Given the description of an element on the screen output the (x, y) to click on. 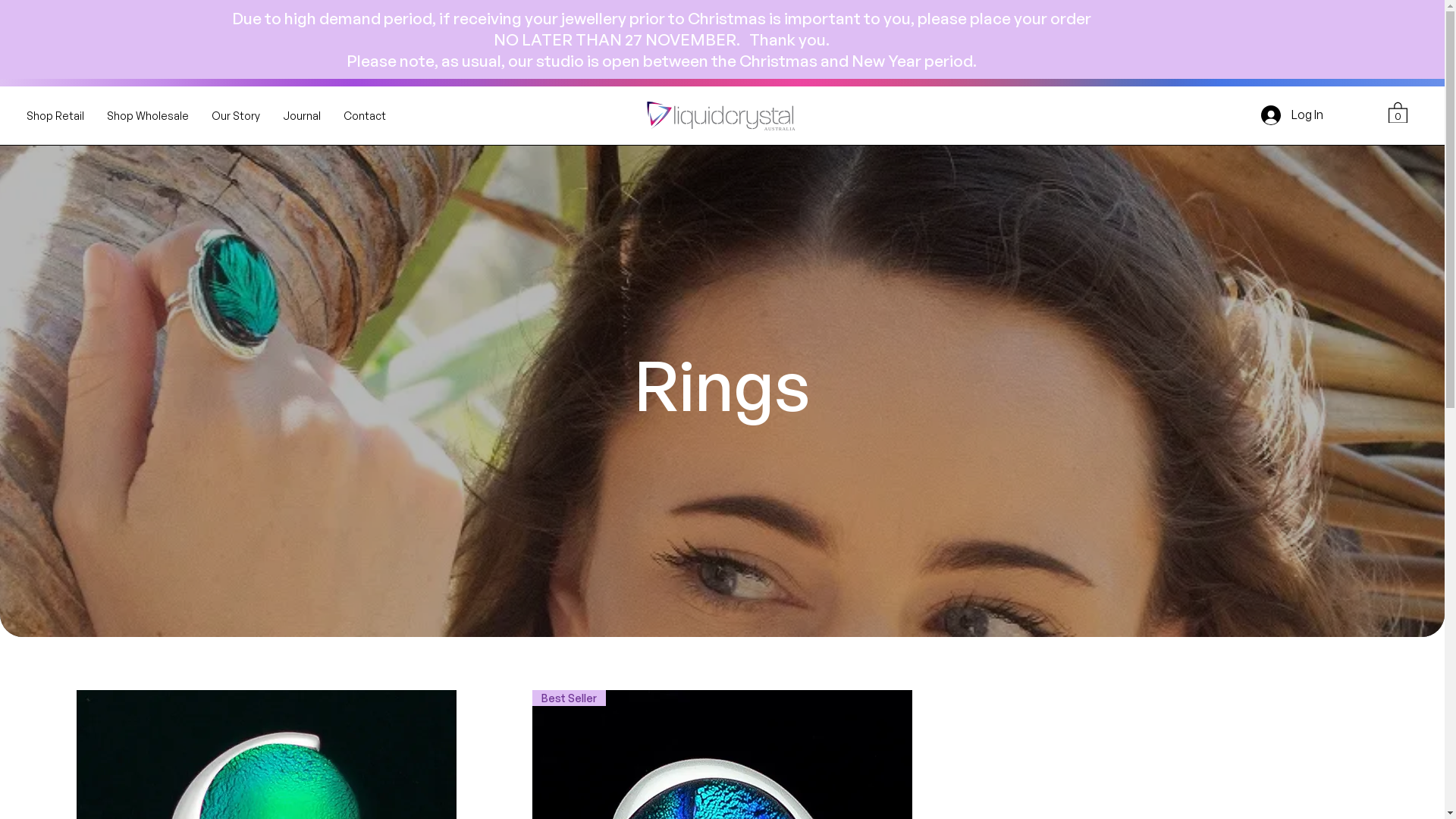
Our Story Element type: text (235, 115)
Contact Element type: text (364, 115)
0 Element type: text (1397, 111)
Journal Element type: text (301, 115)
Log In Element type: text (1291, 114)
AUSTRALIA Element type: text (722, 116)
